Given the description of an element on the screen output the (x, y) to click on. 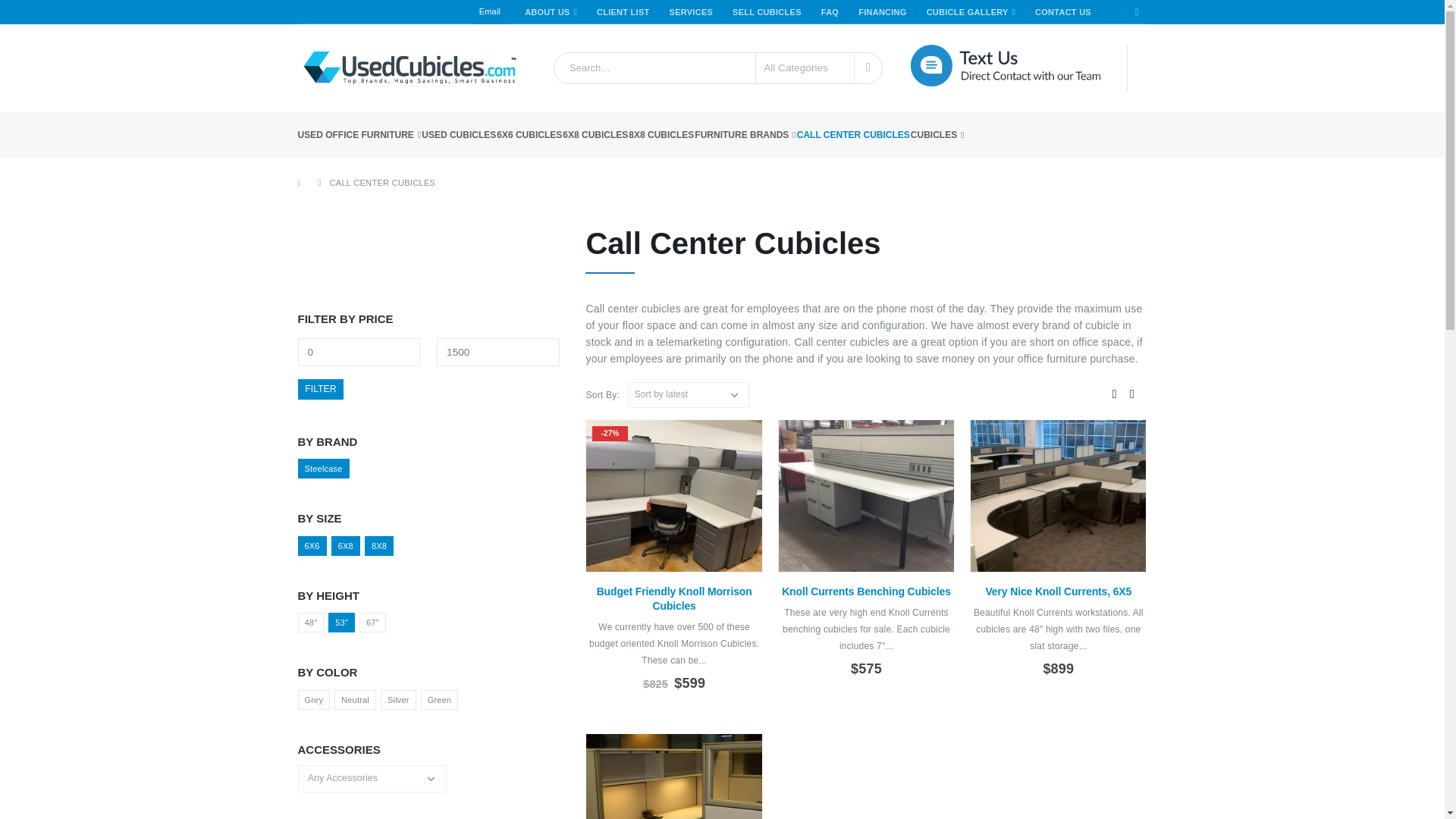
Grid View (1113, 395)
FAQ (839, 12)
CONTACT US (1071, 12)
Go to Home Page (302, 182)
0 (358, 352)
CLIENT LIST (631, 12)
Facebook (1136, 12)
1500 (497, 352)
List View (1131, 395)
Search (868, 68)
SELL CUBICLES (776, 12)
CUBICLE GALLERY (979, 12)
Email (489, 12)
SERVICES (700, 12)
ABOUT US (559, 12)
